Given the description of an element on the screen output the (x, y) to click on. 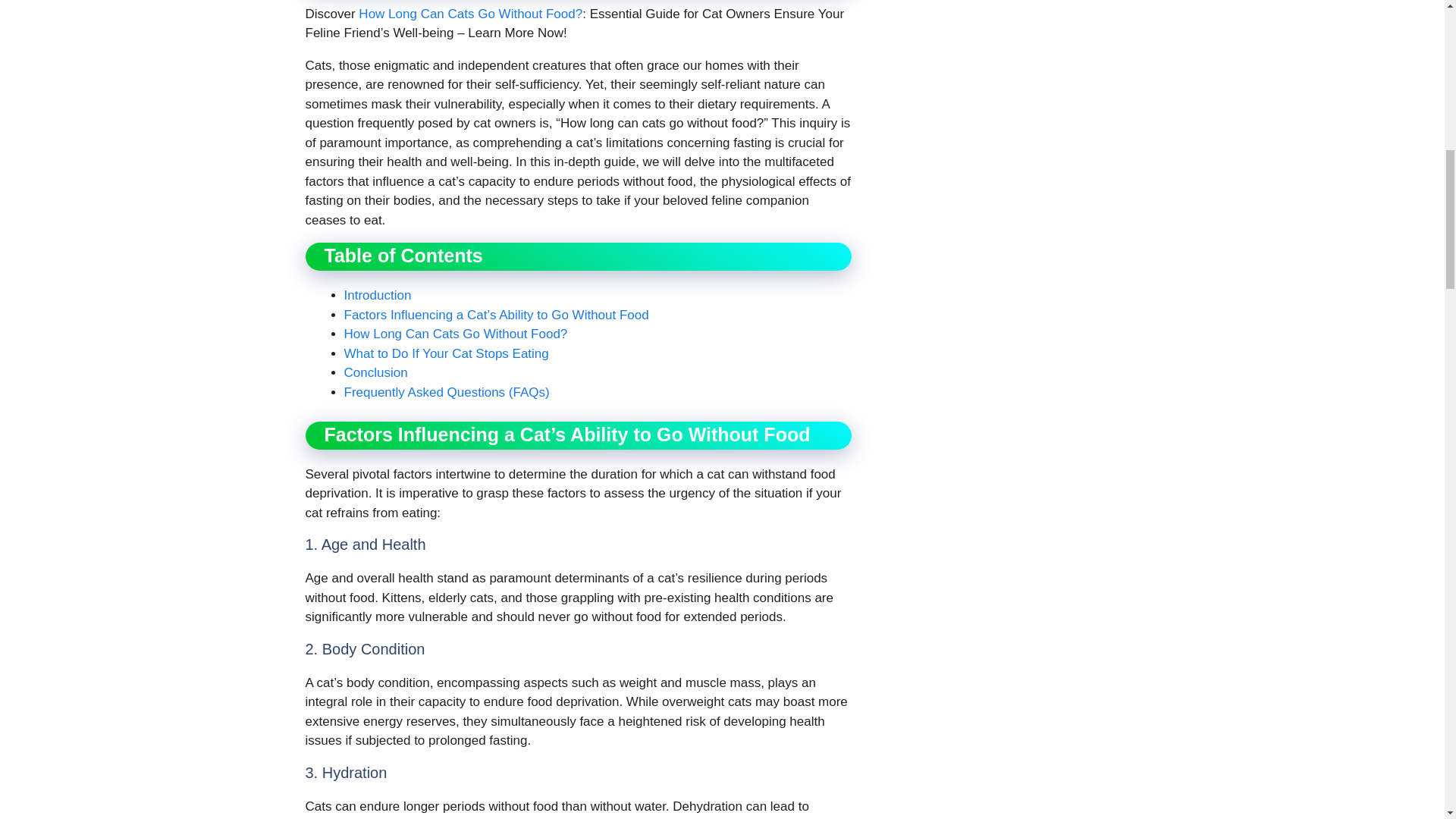
What to Do If Your Cat Stops Eating (445, 353)
Introduction (377, 295)
How Long Can Cats Go Without Food? (470, 13)
Scroll back to top (1406, 720)
Conclusion (375, 372)
How Long Can Cats Go Without Food? (455, 333)
